Given the description of an element on the screen output the (x, y) to click on. 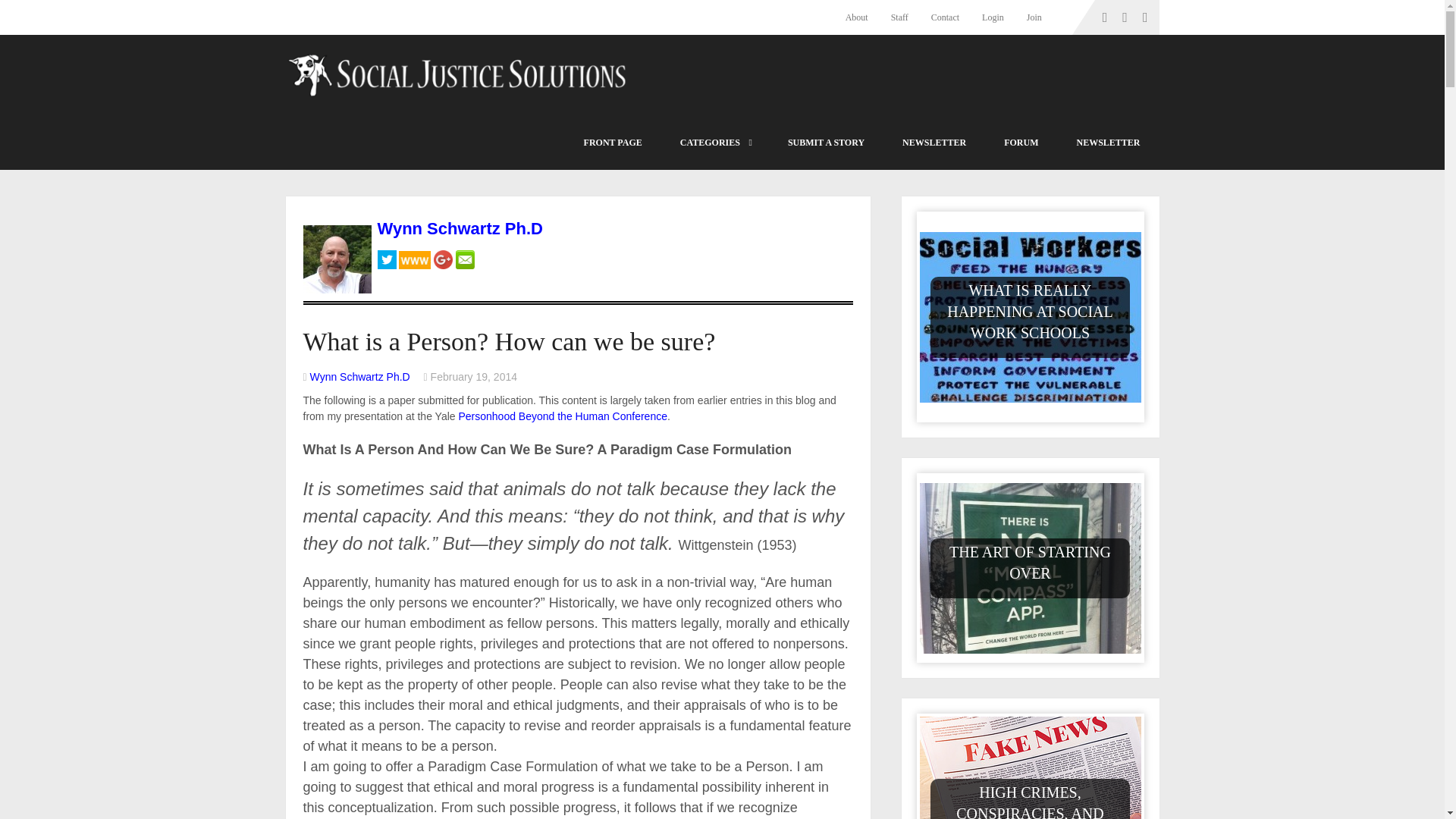
THE ART OF STARTING OVER (1029, 561)
Categories (714, 142)
FORUM (1021, 142)
Contact Social Justice Solutions (945, 17)
Login (992, 17)
FRONT PAGE (612, 142)
SUBMIT A STORY (825, 142)
Join (1033, 17)
NEWSLETTER (934, 142)
Latest (612, 142)
